Given the description of an element on the screen output the (x, y) to click on. 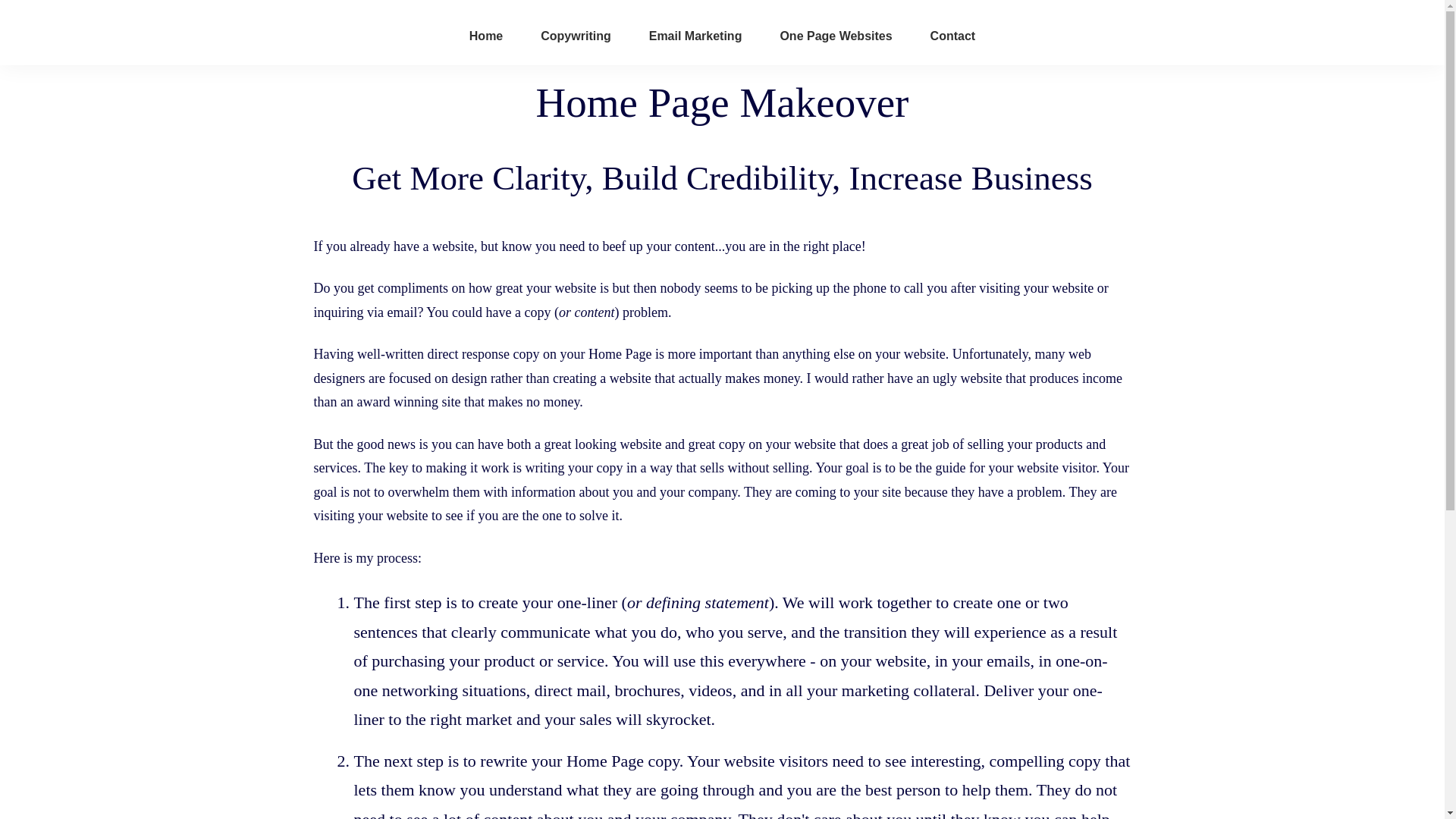
Home (485, 36)
One Page Websites (834, 36)
Contact (952, 36)
Copywriting (575, 36)
Email Marketing (695, 36)
